Given the description of an element on the screen output the (x, y) to click on. 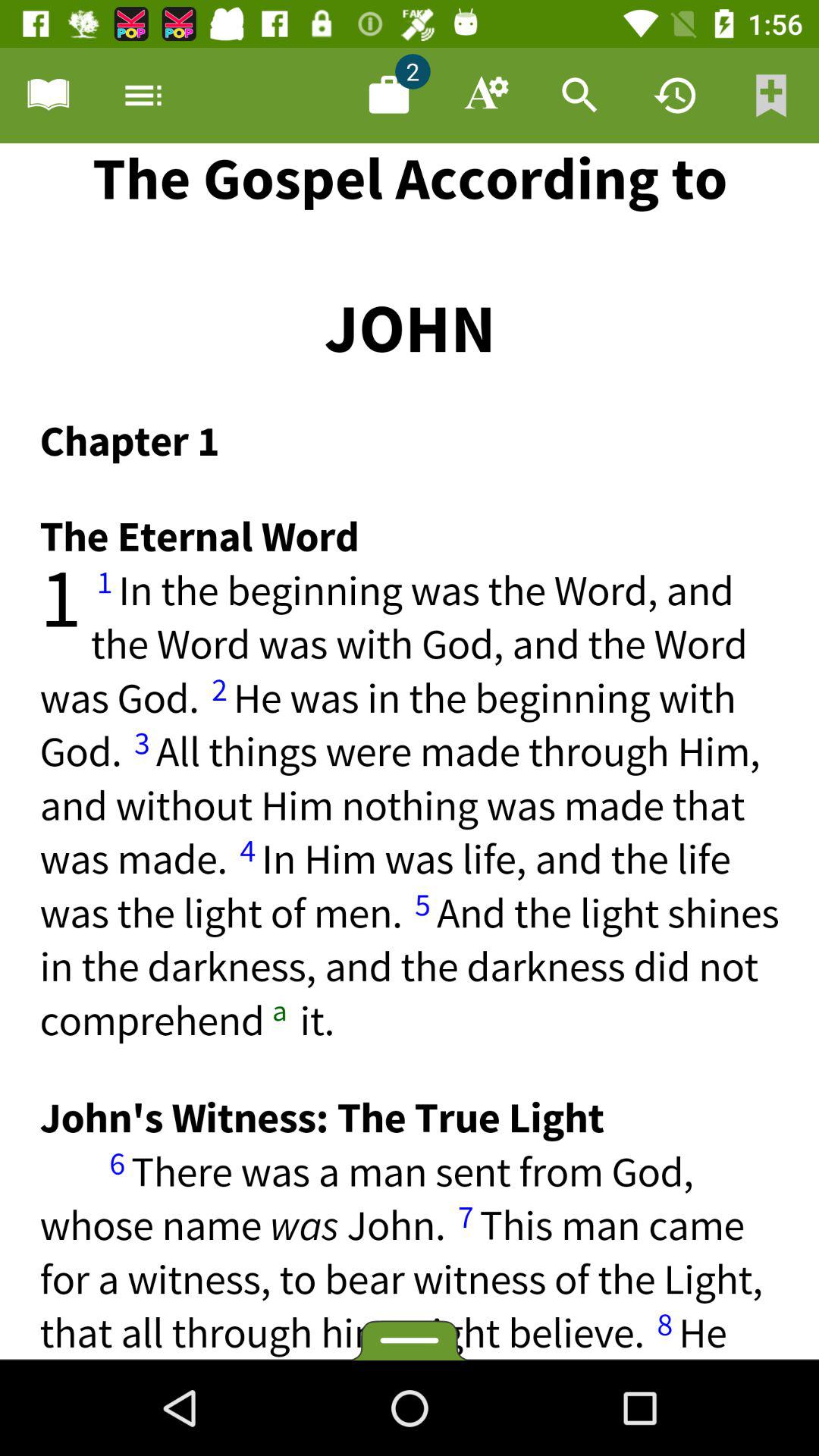
search (579, 95)
